Given the description of an element on the screen output the (x, y) to click on. 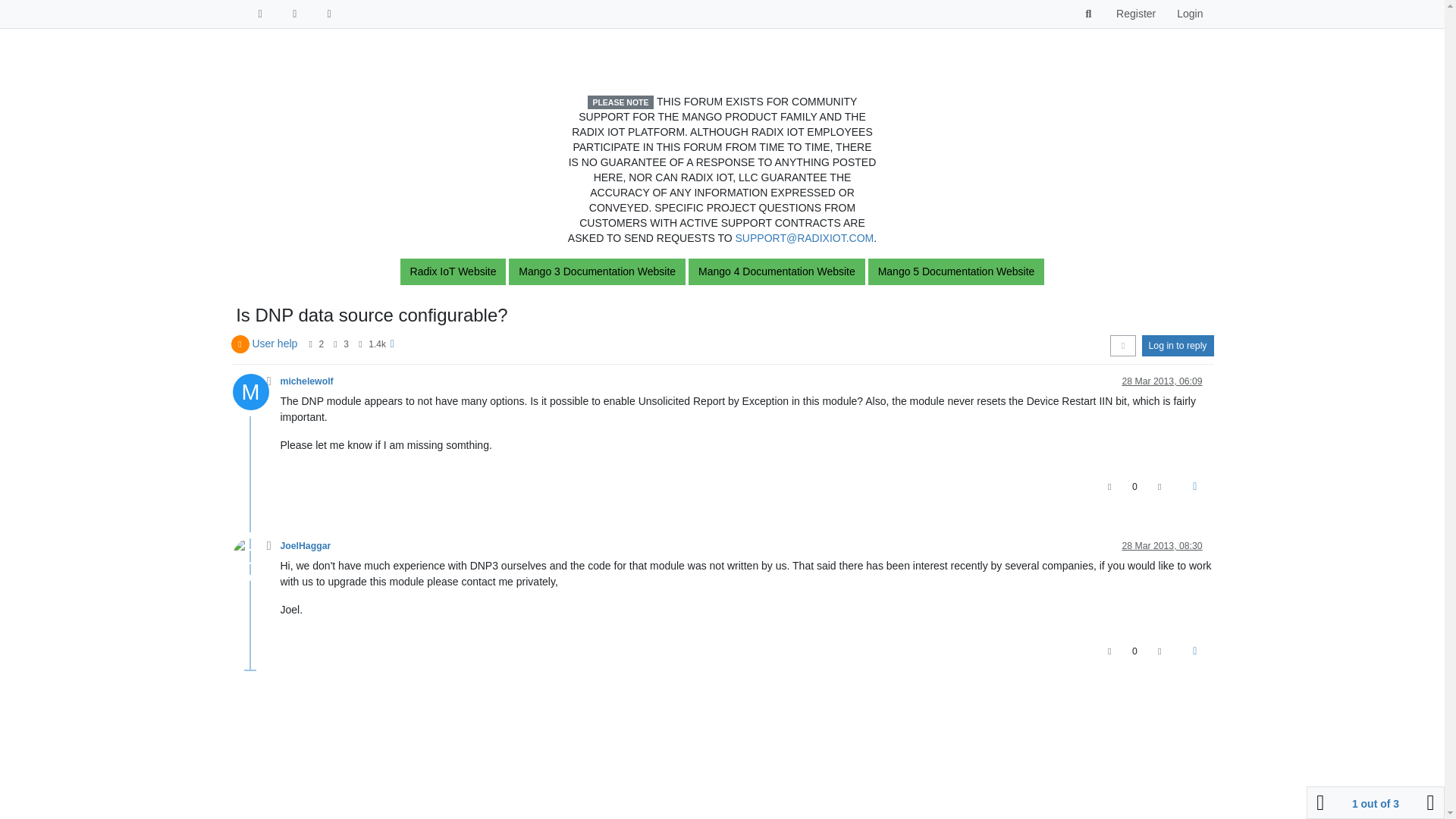
Mango 3 Documentation Website (596, 271)
Mango 4 Documentation Website (776, 271)
Tags (295, 13)
User help (274, 343)
michelewolf (307, 380)
28 Mar 2013, 06:09 (1161, 380)
Posters (309, 343)
Views (360, 343)
Popular (330, 13)
1448 (376, 344)
